Given the description of an element on the screen output the (x, y) to click on. 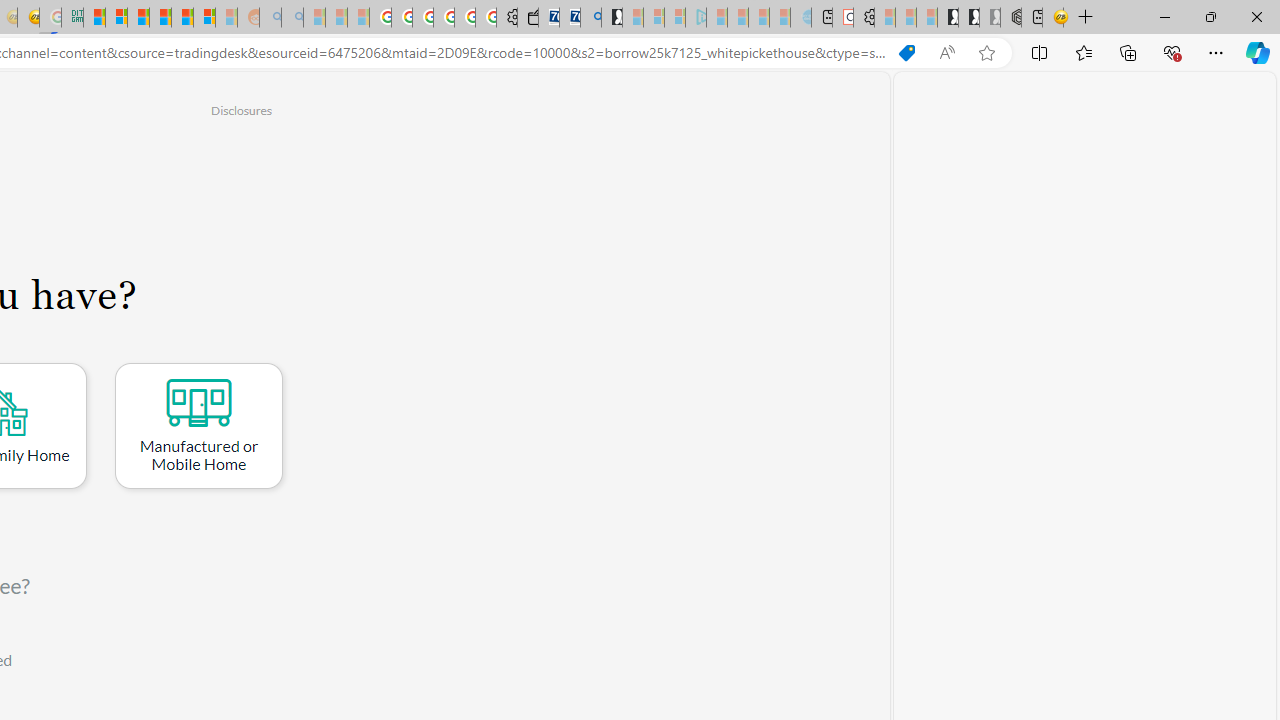
Cheap Car Rentals - Save70.com (569, 17)
